Given the description of an element on the screen output the (x, y) to click on. 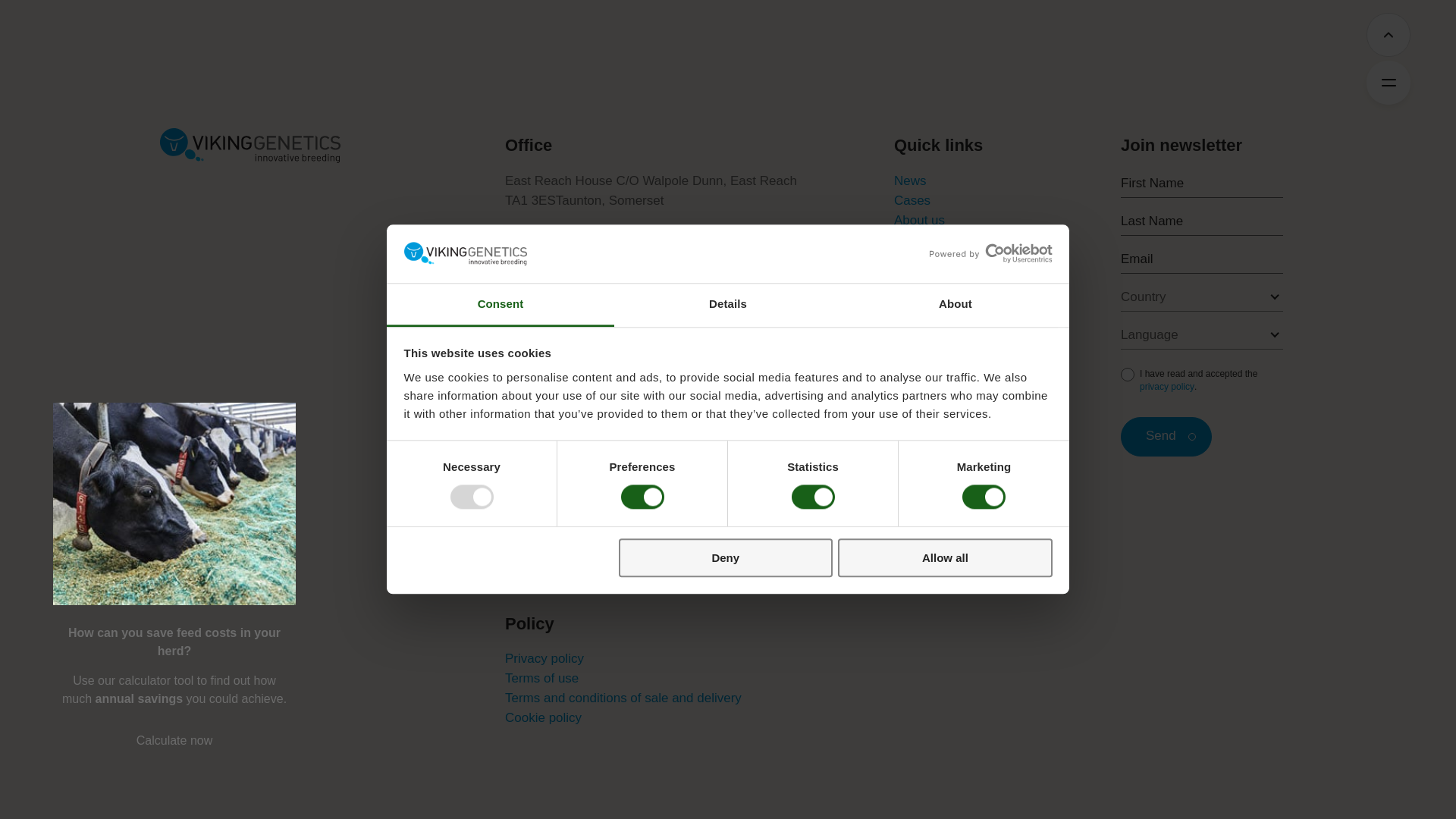
Viking Genetics - innovative breeding (249, 144)
